Given the description of an element on the screen output the (x, y) to click on. 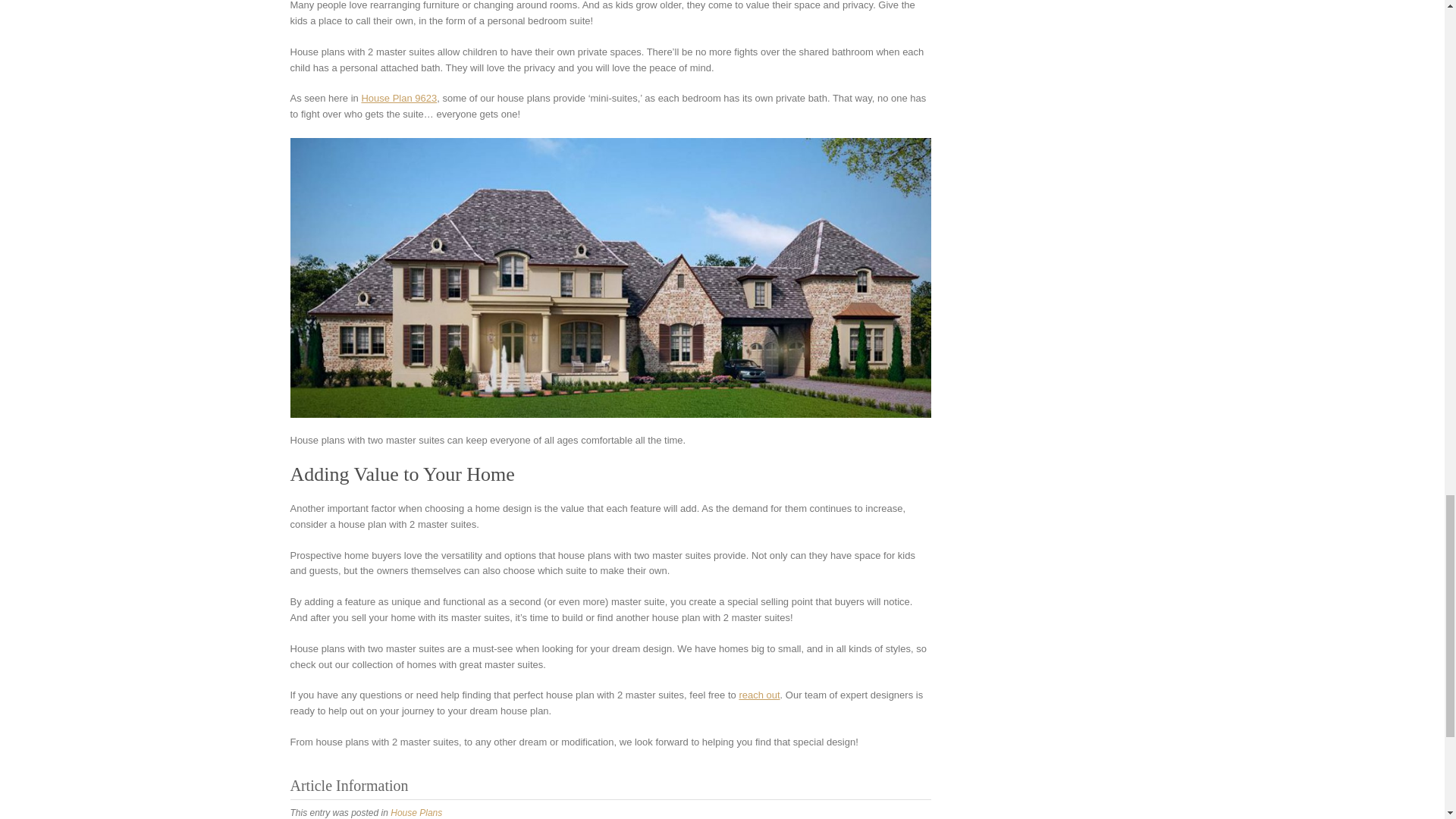
reach out (758, 695)
House Plans (416, 812)
House Plan 9623 (398, 98)
